Given the description of an element on the screen output the (x, y) to click on. 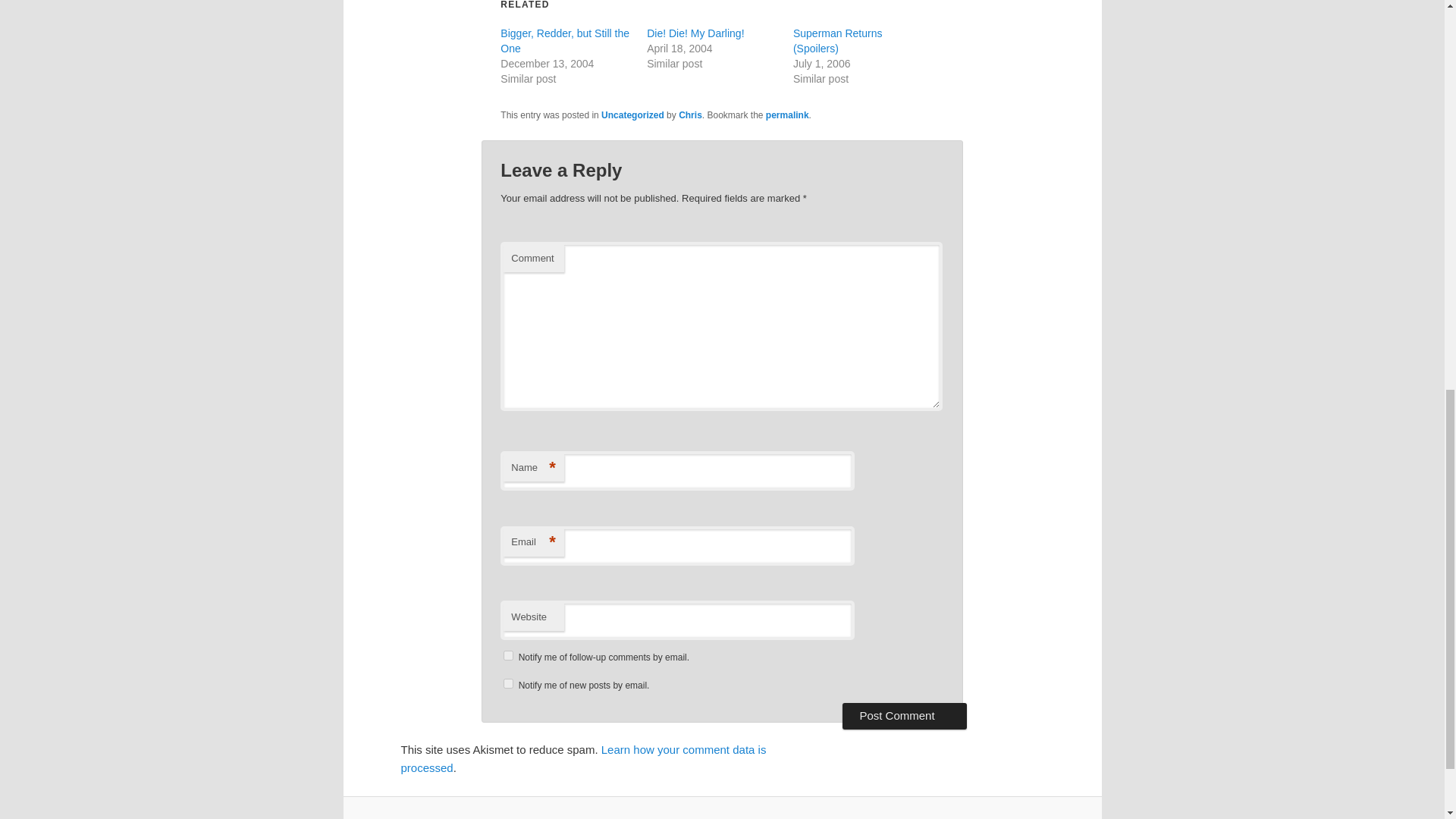
Permalink to Initial Reaction: Serenity (787, 114)
permalink (787, 114)
Post Comment (904, 715)
Die! Die! My Darling! (695, 33)
Learn how your comment data is processed (582, 757)
Chris (689, 114)
Uncategorized (632, 114)
subscribe (508, 683)
Bigger, Redder, but Still the One (564, 40)
subscribe (508, 655)
Post Comment (904, 715)
